Given the description of an element on the screen output the (x, y) to click on. 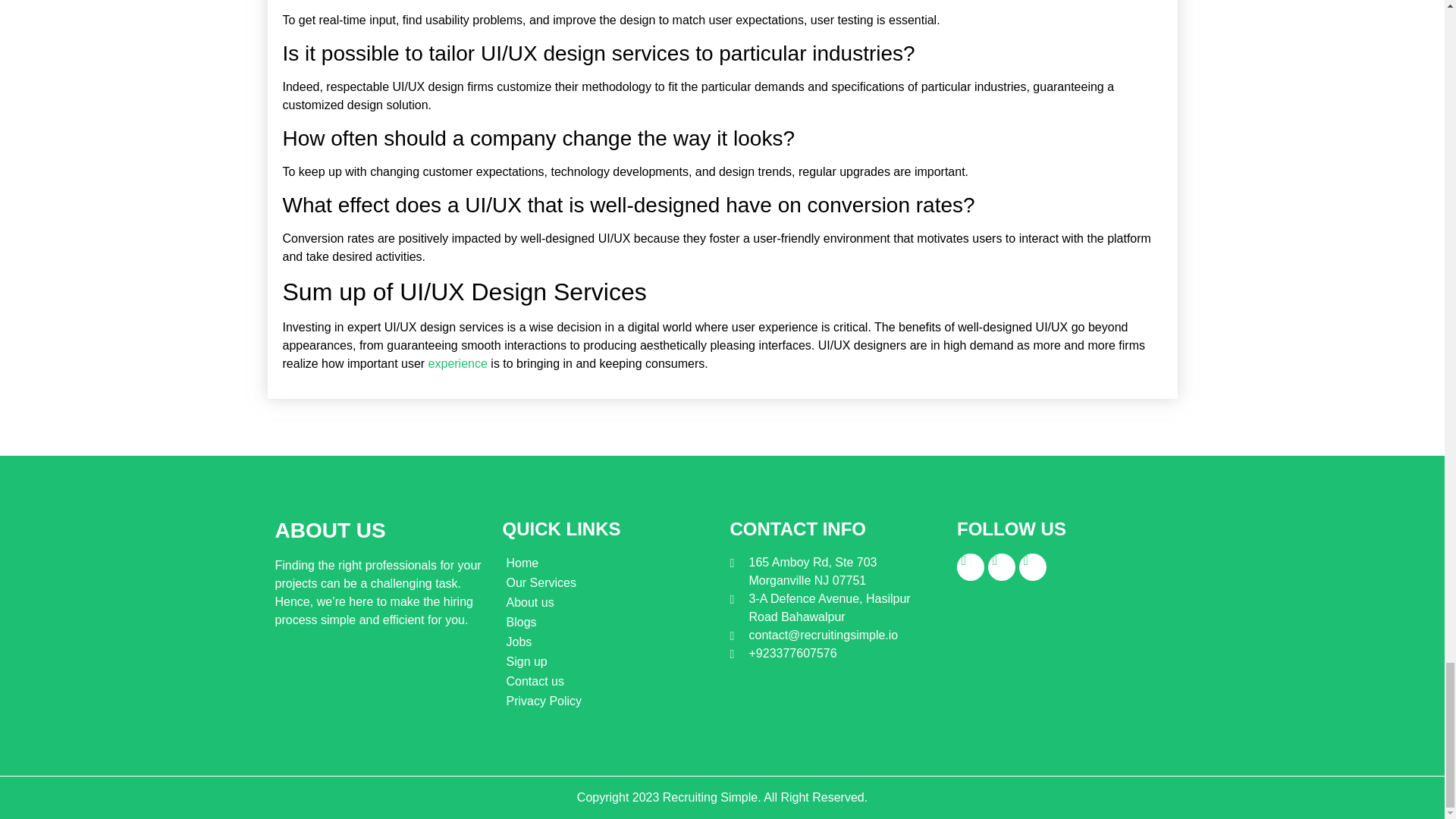
About us (608, 602)
Contact us (608, 681)
Privacy Policy (608, 701)
Our Services (608, 582)
experience (457, 363)
165 Amboy Rd, Ste 703 Morganville NJ 07751 (834, 571)
Sign up (608, 661)
Blogs (608, 622)
Home (608, 563)
Jobs (608, 641)
